Given the description of an element on the screen output the (x, y) to click on. 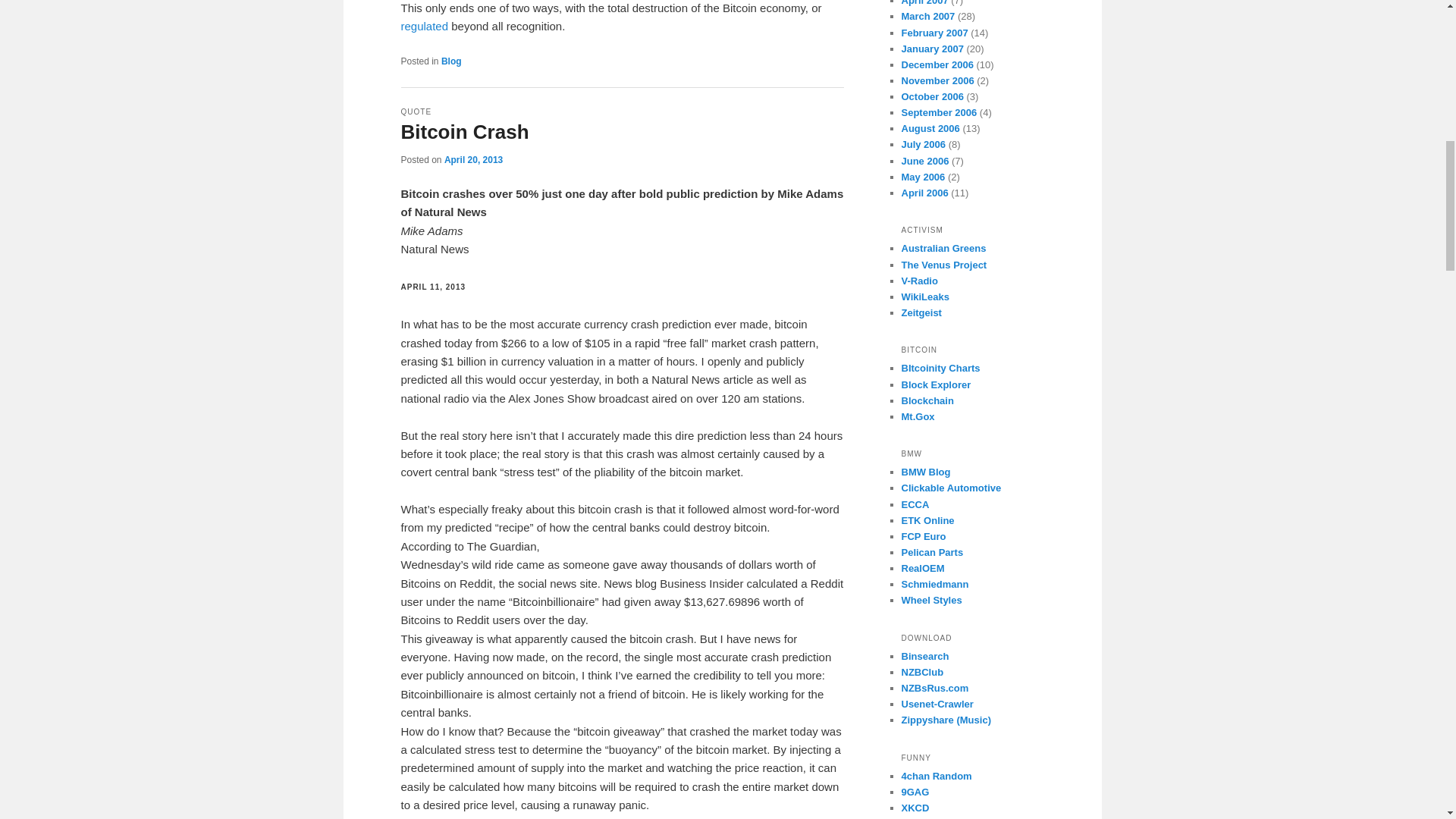
April 20, 2013 (473, 159)
regulated (424, 25)
Blog (451, 61)
Bitcoin Crash (464, 131)
2:56 pm (473, 159)
